Given the description of an element on the screen output the (x, y) to click on. 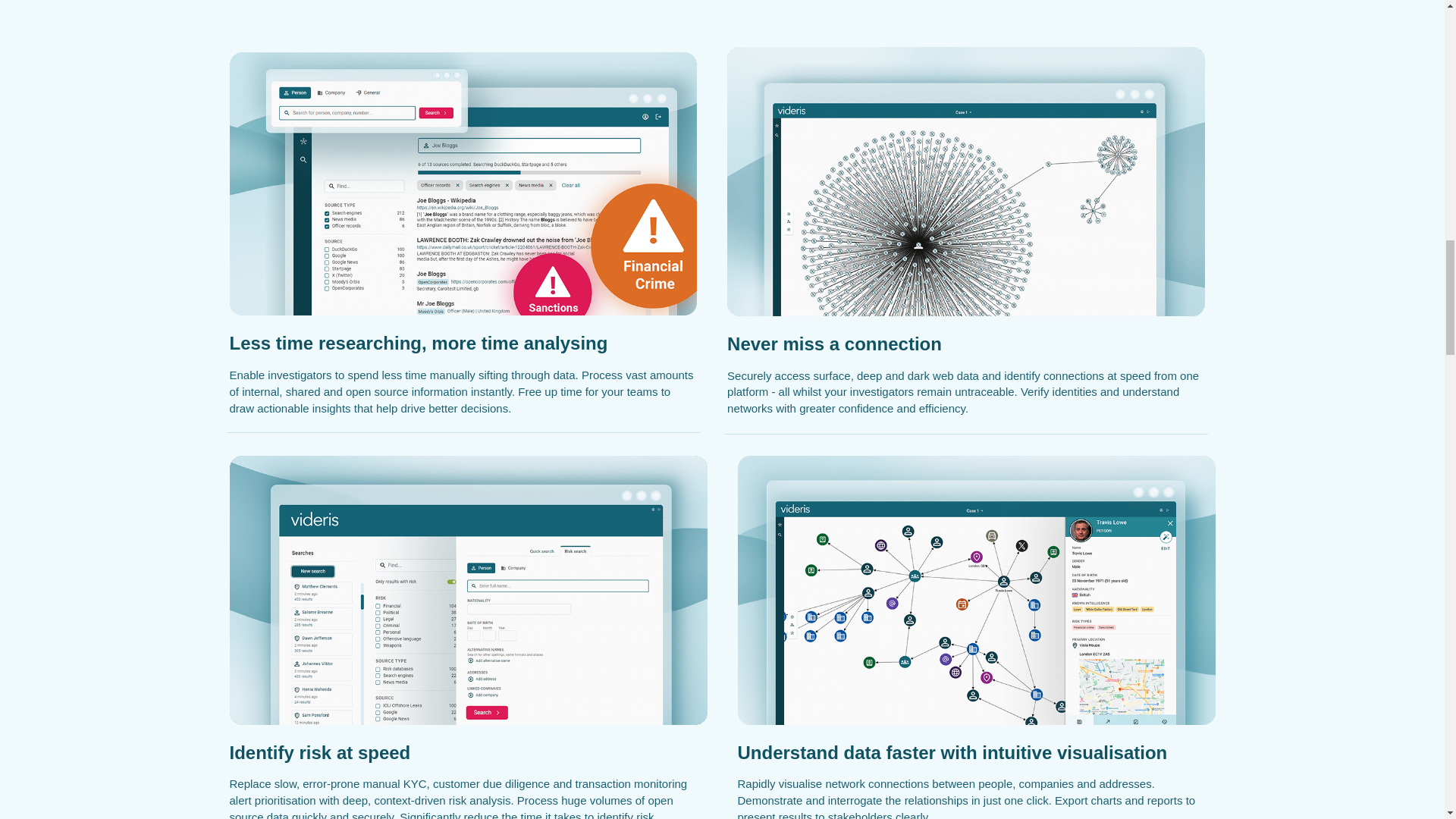
risk search (467, 589)
circle chart (965, 181)
Entity inspector for homepage (975, 589)
search window (462, 183)
